Given the description of an element on the screen output the (x, y) to click on. 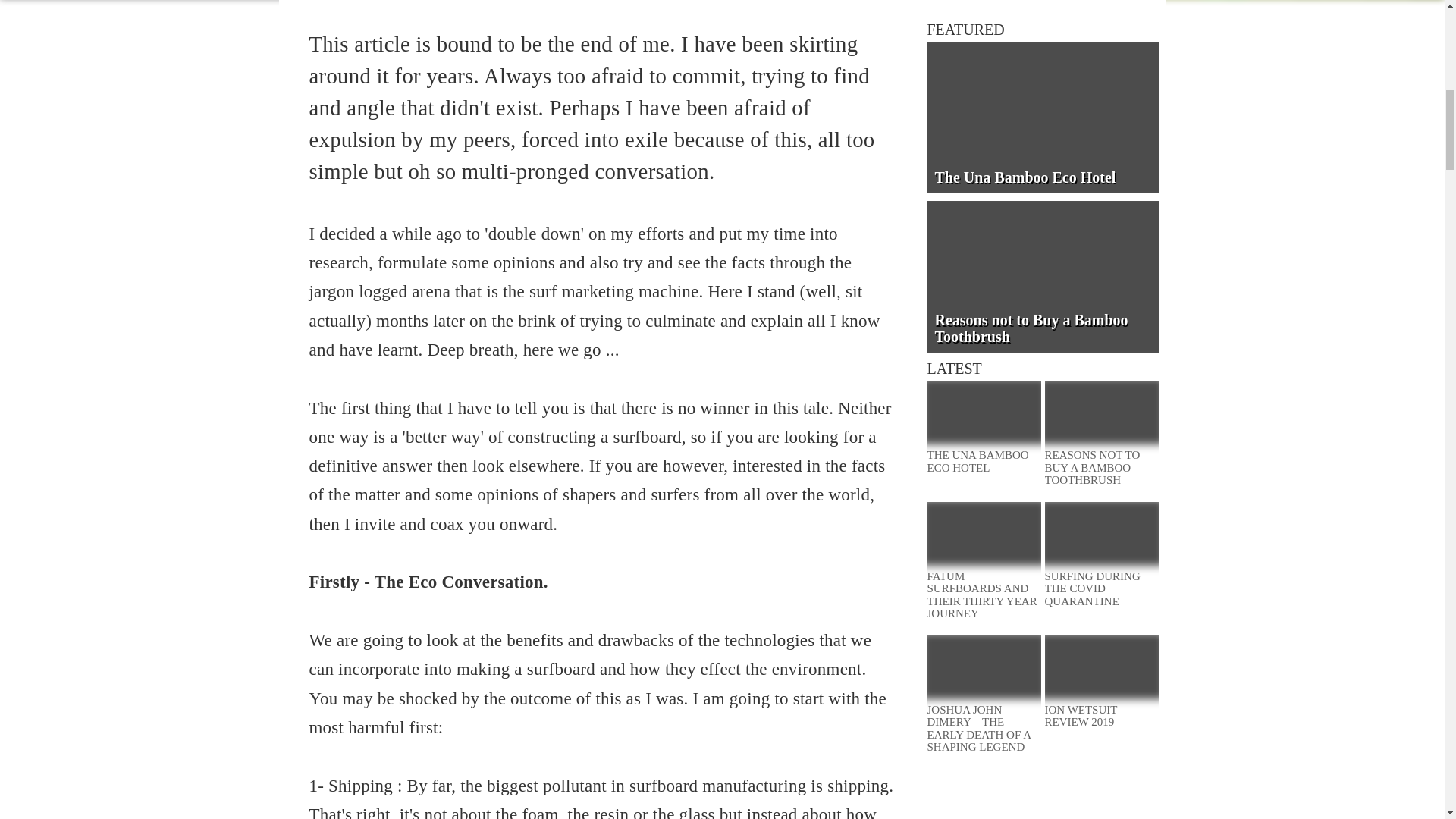
SURFING DURING THE COVID QUARANTINE (1101, 589)
THE UNA BAMBOO ECO HOTEL (983, 461)
REASONS NOT TO BUY A BAMBOO TOOTHBRUSH (1101, 467)
FATUM SURFBOARDS AND THEIR THIRTY YEAR JOURNEY (983, 594)
ION WETSUIT REVIEW 2019 (1101, 715)
